Given the description of an element on the screen output the (x, y) to click on. 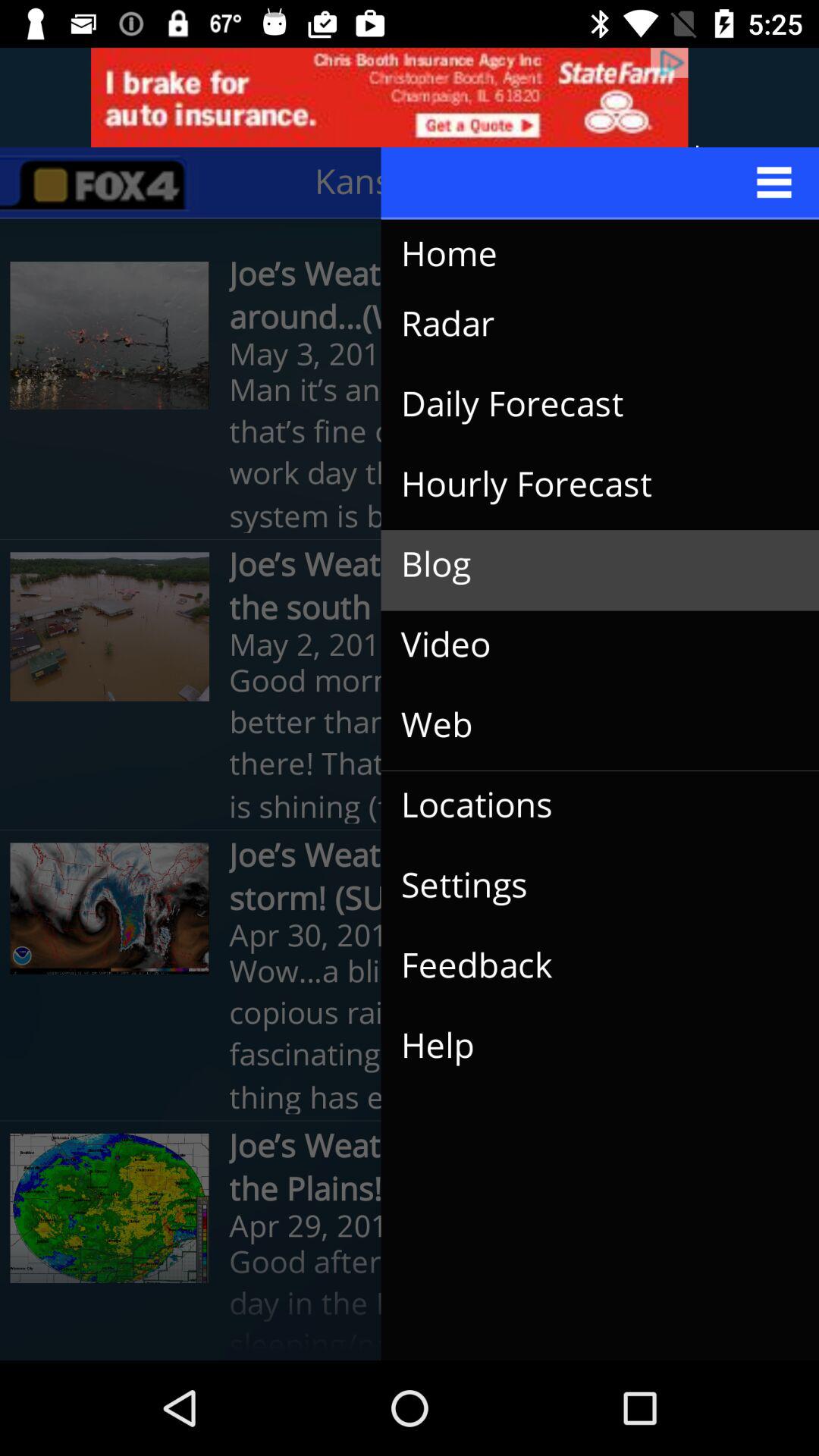
click item below may 3 2017 (587, 404)
